Given the description of an element on the screen output the (x, y) to click on. 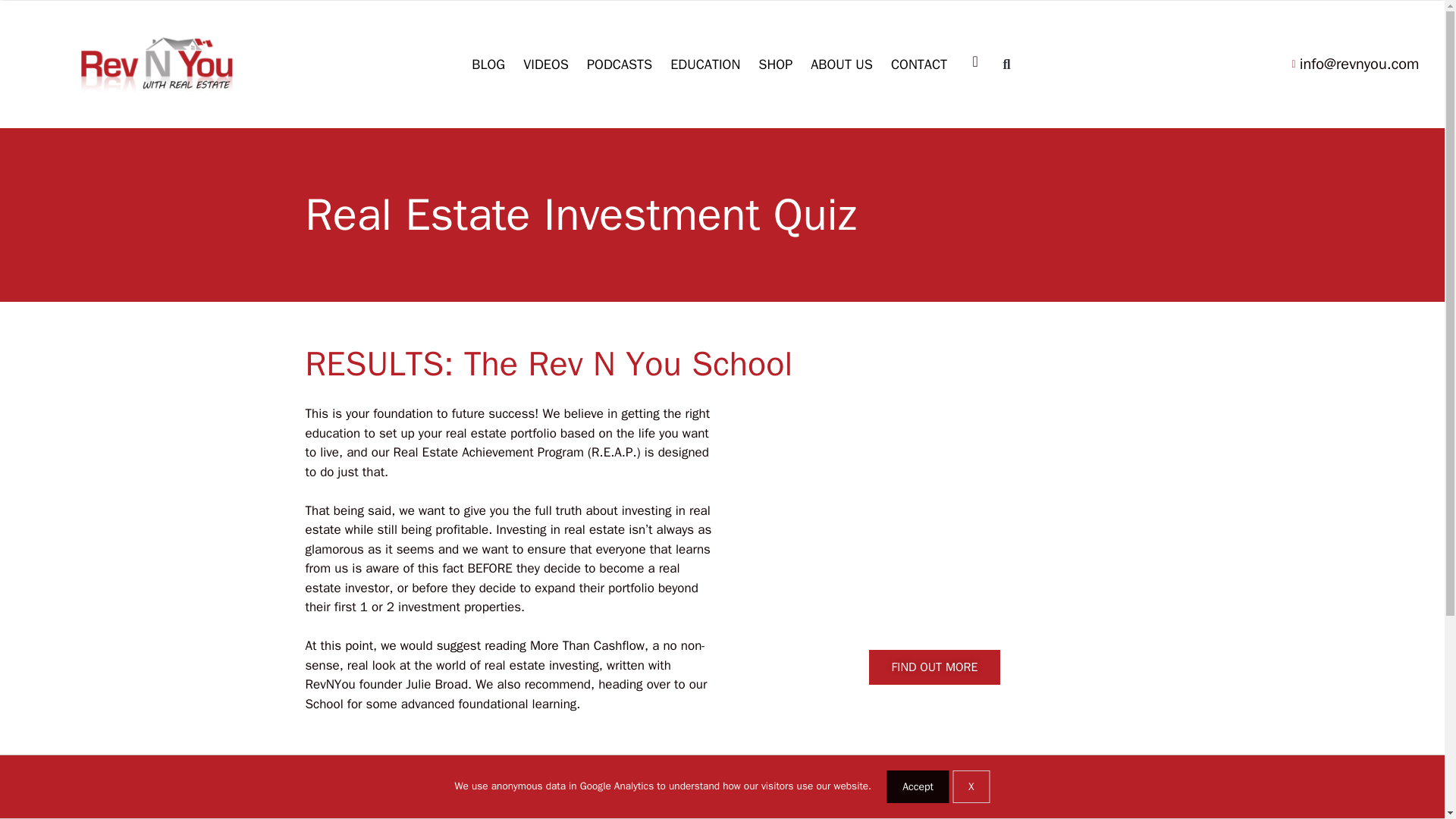
EDUCATION (705, 64)
SHOP (775, 64)
Accept (917, 786)
BLOG (488, 64)
FIND OUT MORE (935, 667)
PODCASTS (619, 64)
START AGAIN (362, 806)
VIDEOS (545, 64)
X (971, 786)
ABOUT US (842, 64)
